Given the description of an element on the screen output the (x, y) to click on. 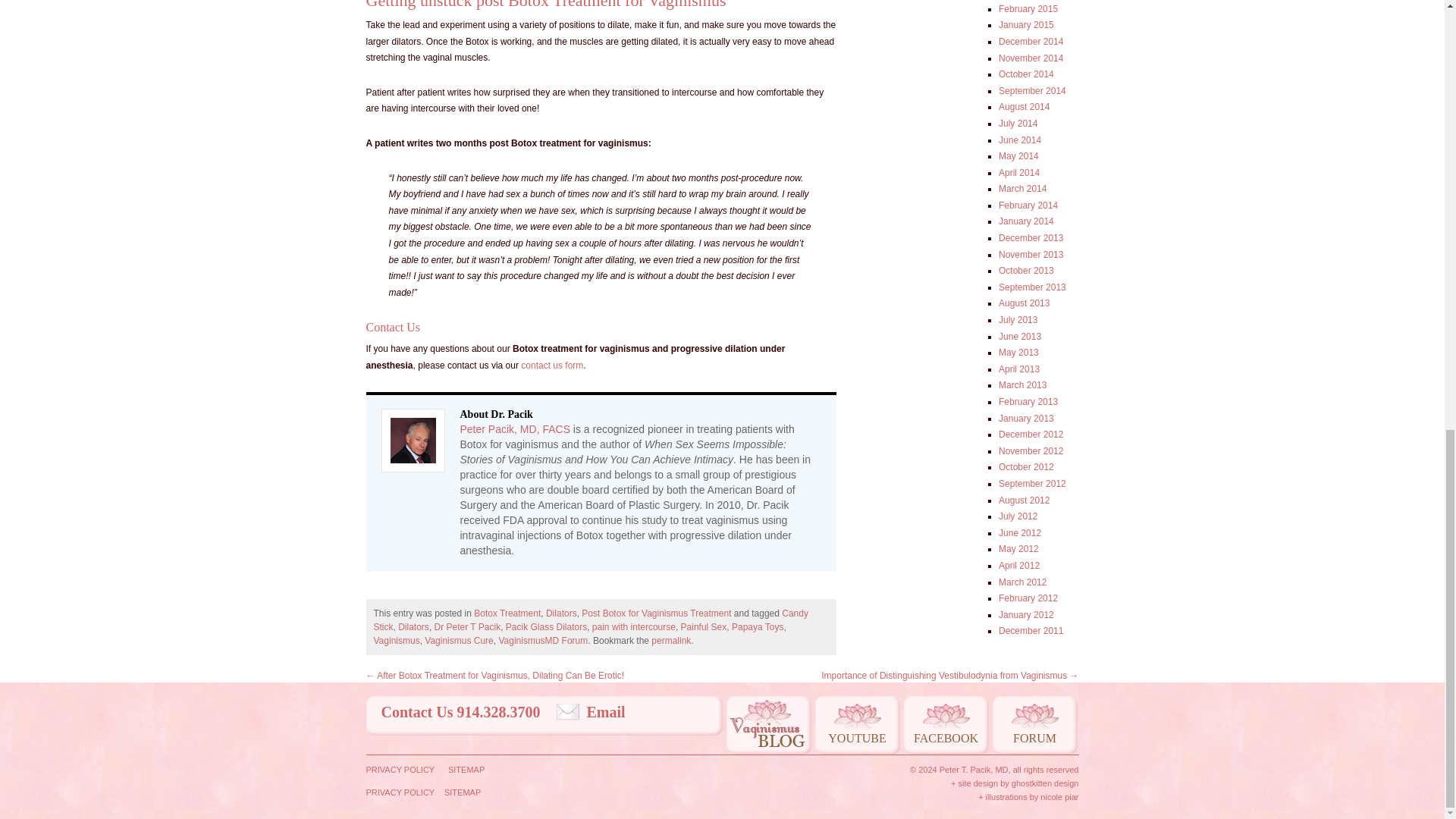
Contact Us at VaginismusMD (552, 365)
